Given the description of an element on the screen output the (x, y) to click on. 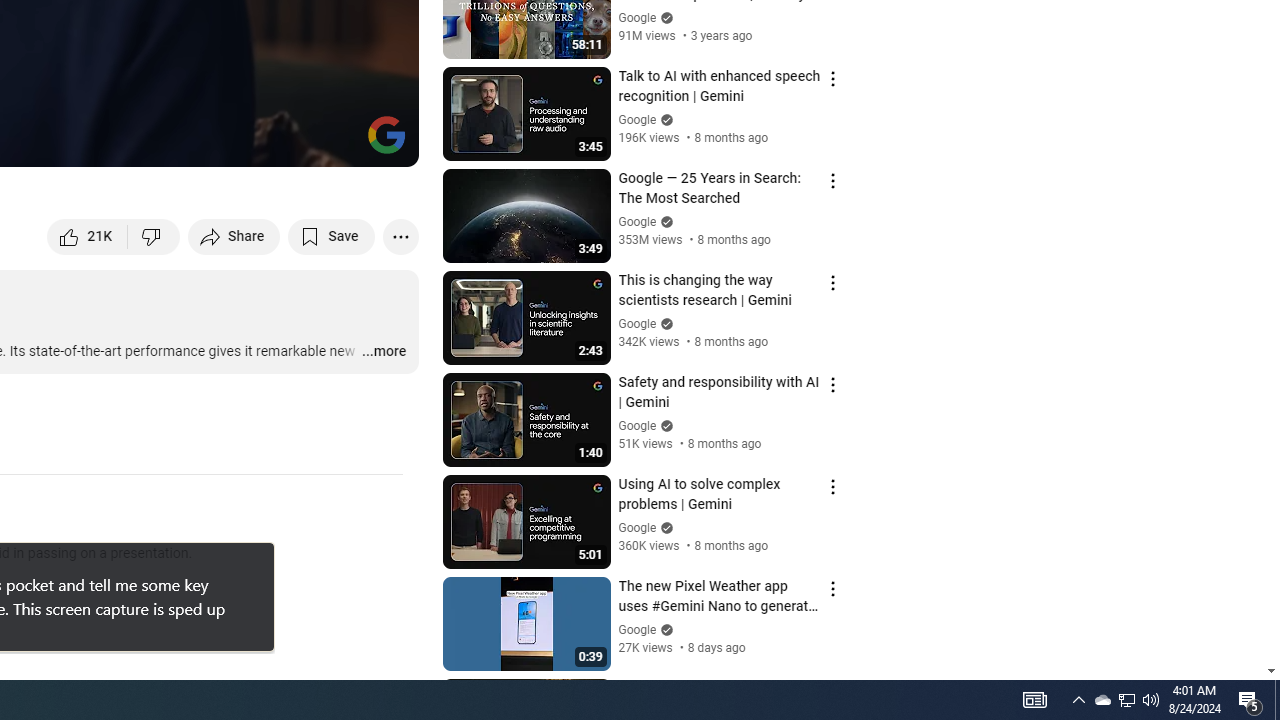
Subtitles/closed captions unavailable (190, 142)
Miniplayer (i) (286, 142)
More actions (399, 236)
like this video along with 21,118 other people (88, 236)
Share (234, 236)
Full screen (f) (382, 142)
Action menu (832, 690)
Channel watermark (386, 134)
